Given the description of an element on the screen output the (x, y) to click on. 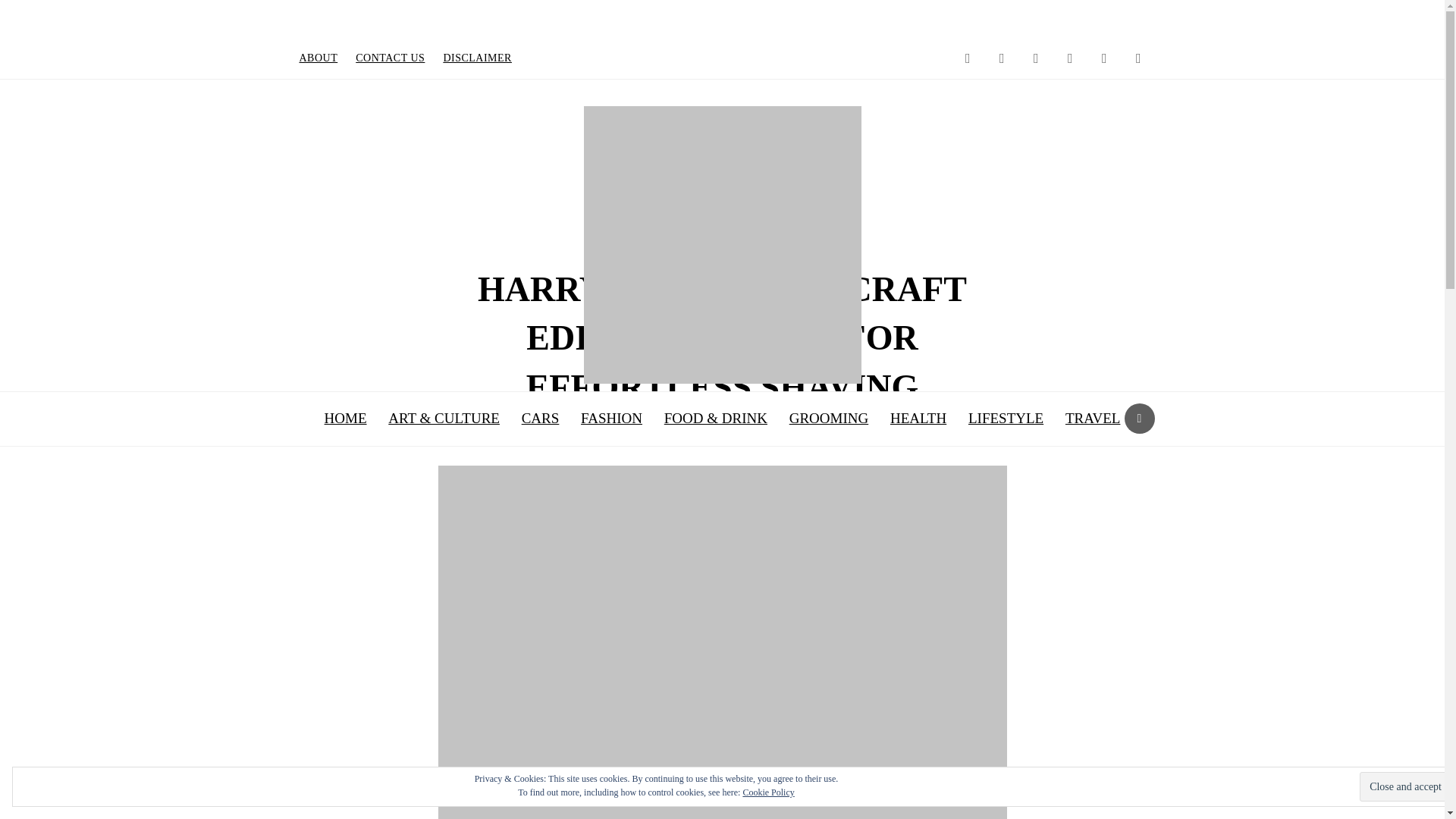
tiktok (1036, 57)
ABOUT (317, 58)
youtube (1105, 57)
LIFESTYLE (1005, 418)
Posts by Theeverydayman (630, 431)
FASHION (611, 418)
Search (1139, 418)
CONTACT US (389, 58)
twitter (1001, 57)
CARS (540, 418)
TRAVEL (1093, 418)
facebook (1070, 57)
GROOMING (828, 418)
HEALTH (917, 418)
DISCLAIMER (477, 58)
